Given the description of an element on the screen output the (x, y) to click on. 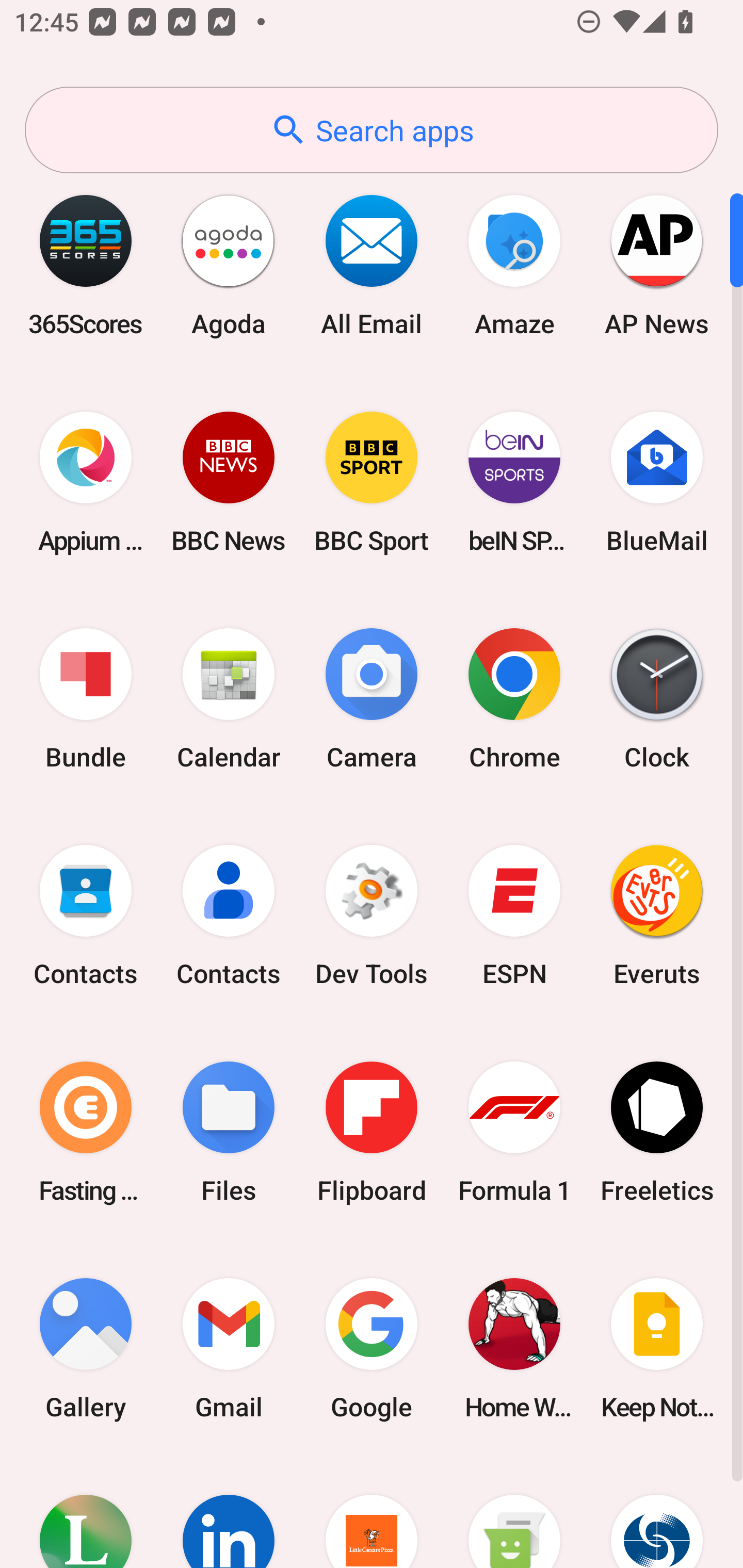
  Search apps (371, 130)
365Scores (85, 264)
Agoda (228, 264)
All Email (371, 264)
Amaze (514, 264)
AP News (656, 264)
Appium Settings (85, 482)
BBC News (228, 482)
BBC Sport (371, 482)
beIN SPORTS (514, 482)
BlueMail (656, 482)
Bundle (85, 699)
Calendar (228, 699)
Camera (371, 699)
Chrome (514, 699)
Clock (656, 699)
Contacts (85, 915)
Contacts (228, 915)
Dev Tools (371, 915)
ESPN (514, 915)
Everuts (656, 915)
Fasting Coach (85, 1131)
Files (228, 1131)
Flipboard (371, 1131)
Formula 1 (514, 1131)
Freeletics (656, 1131)
Gallery (85, 1348)
Gmail (228, 1348)
Google (371, 1348)
Home Workout (514, 1348)
Keep Notes (656, 1348)
